Given the description of an element on the screen output the (x, y) to click on. 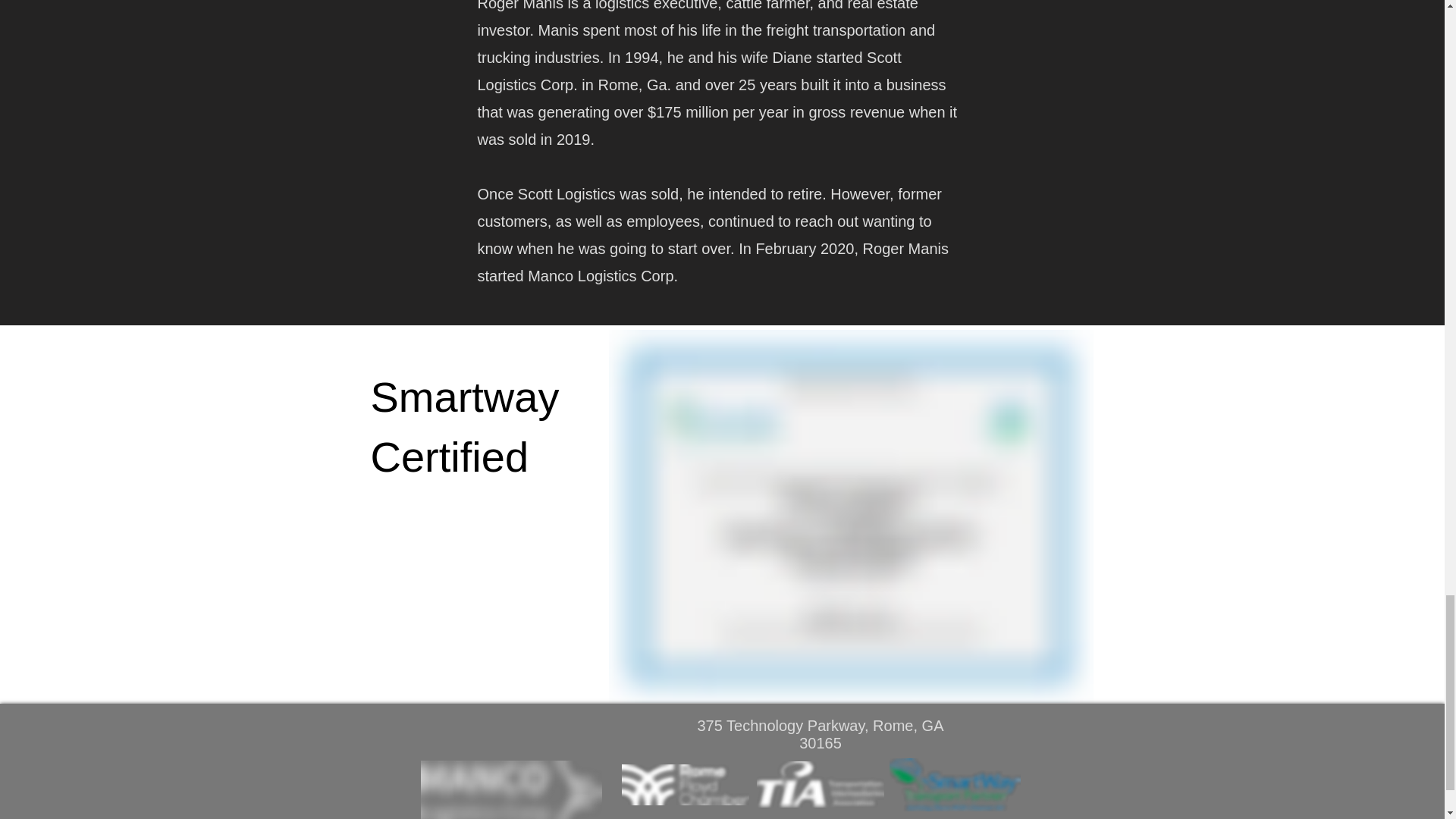
TIA.png (820, 784)
SmartWayTransportPartner.png (954, 784)
RomeFloydChamber.png (685, 784)
